Given the description of an element on the screen output the (x, y) to click on. 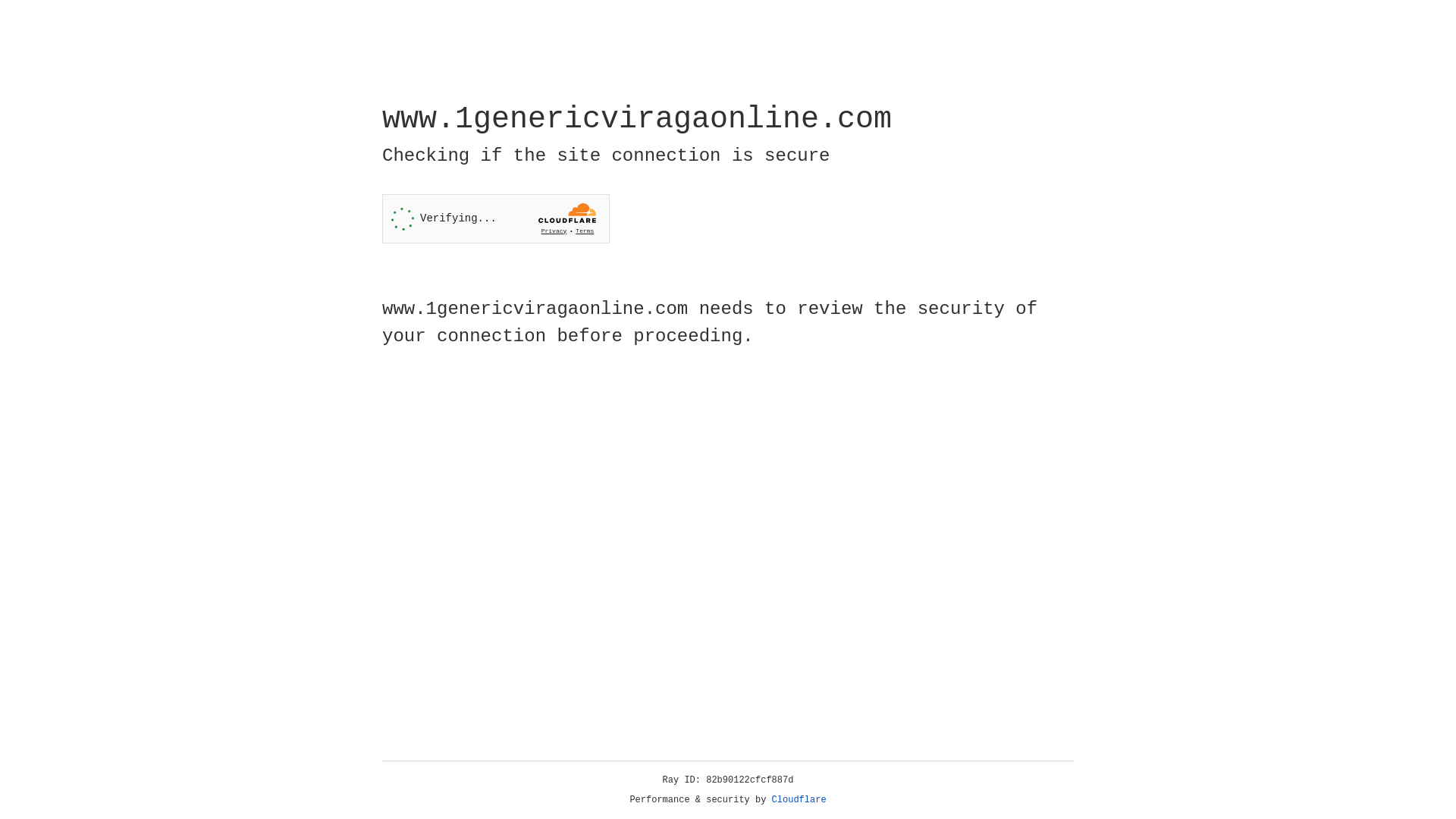
Cloudflare Element type: text (798, 799)
Widget containing a Cloudflare security challenge Element type: hover (495, 218)
